Given the description of an element on the screen output the (x, y) to click on. 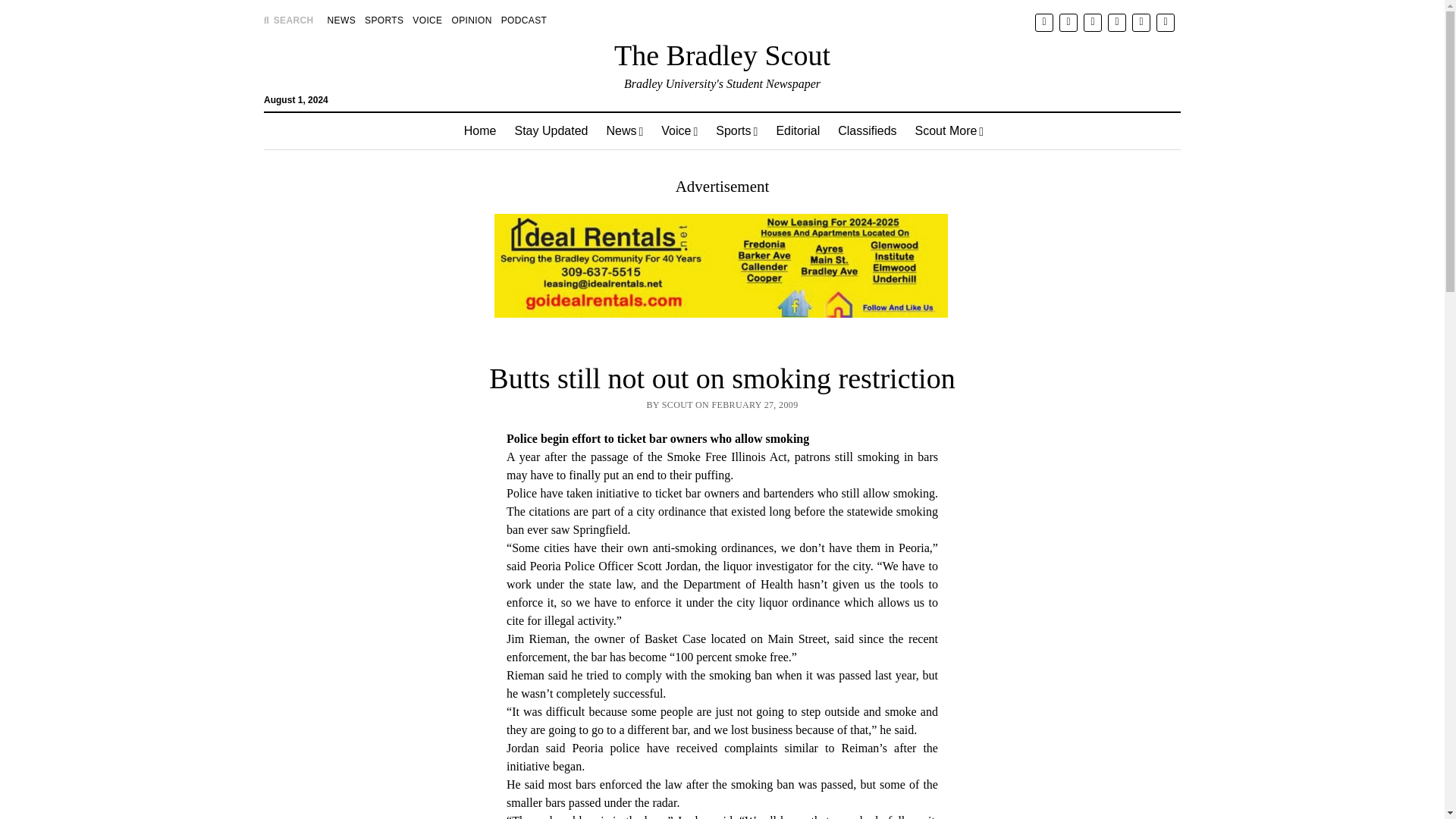
VOICE (427, 20)
Search (945, 129)
News (624, 131)
The Bradley Scout (721, 55)
Editorial (797, 131)
Stay Updated (550, 131)
Home (479, 131)
Classifieds (866, 131)
Scout More (948, 131)
SEARCH (288, 20)
NEWS (341, 20)
OPINION (471, 20)
Voice (679, 131)
PODCAST (523, 20)
SPORTS (384, 20)
